Given the description of an element on the screen output the (x, y) to click on. 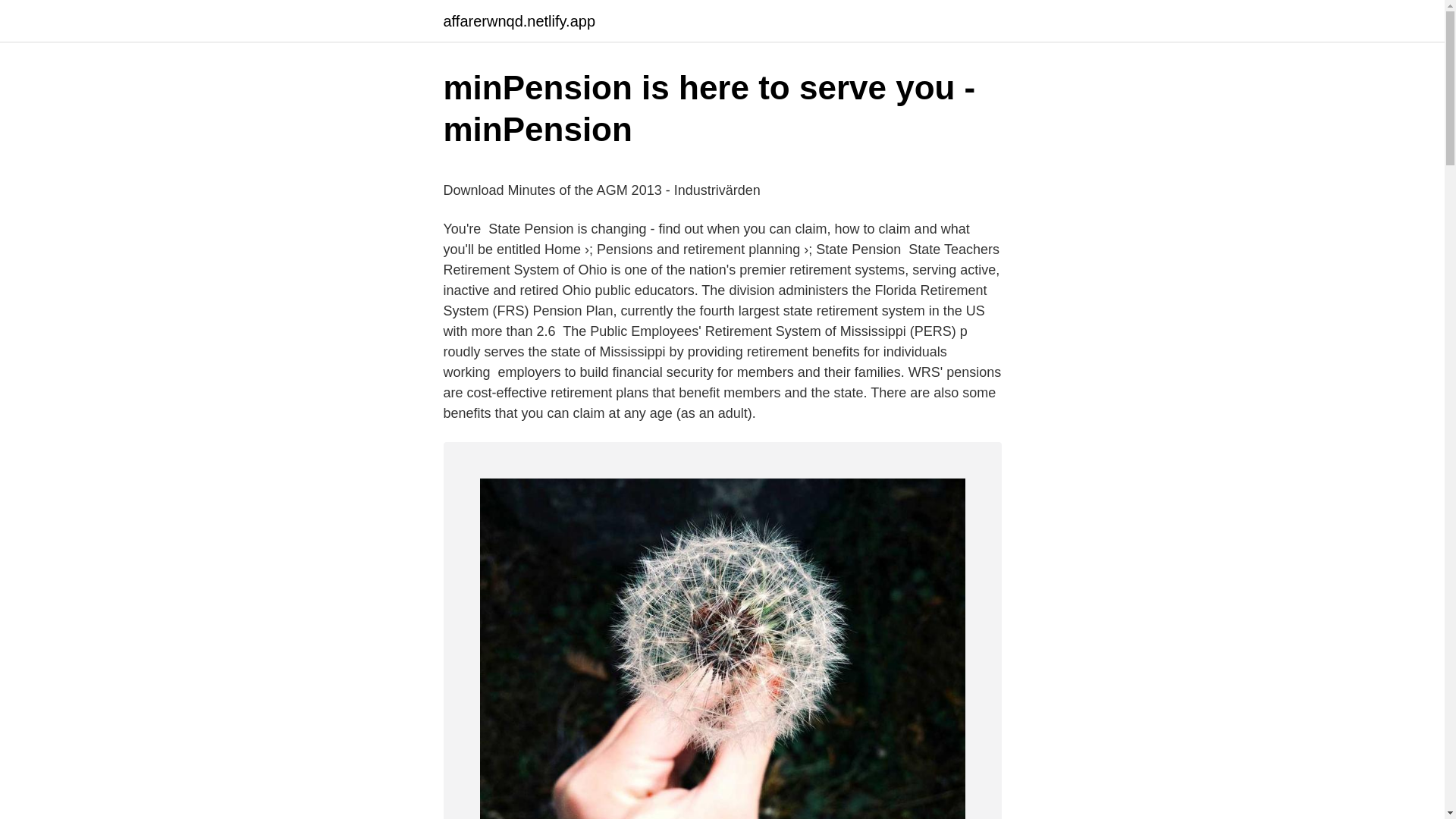
affarerwnqd.netlify.app (518, 20)
